Given the description of an element on the screen output the (x, y) to click on. 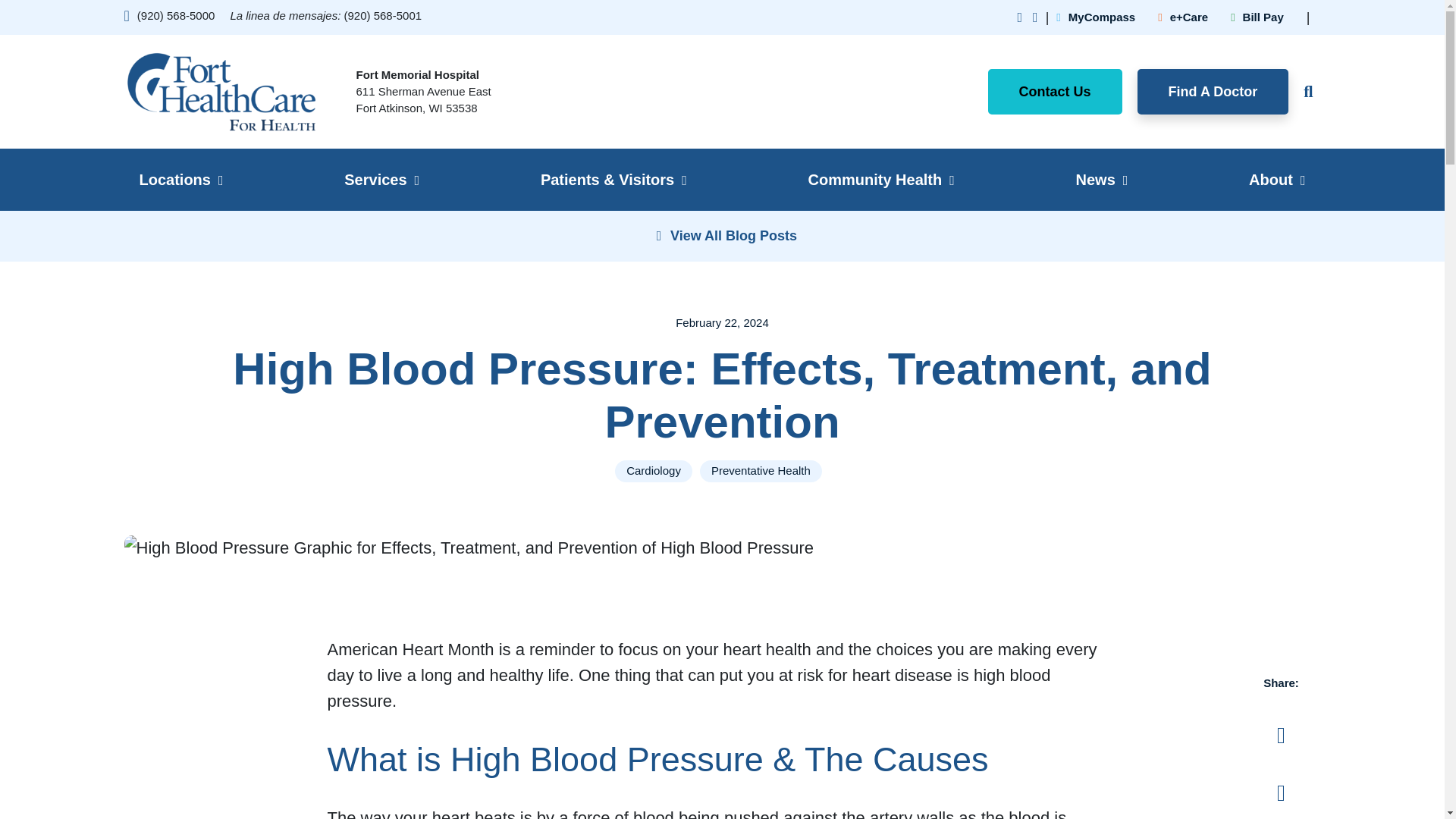
Services (381, 179)
MyCompass (1096, 16)
Open Global Search (1304, 91)
Find A Doctor (1212, 91)
Locations (180, 179)
Contact Us (1055, 91)
Bill Pay (1257, 16)
